Given the description of an element on the screen output the (x, y) to click on. 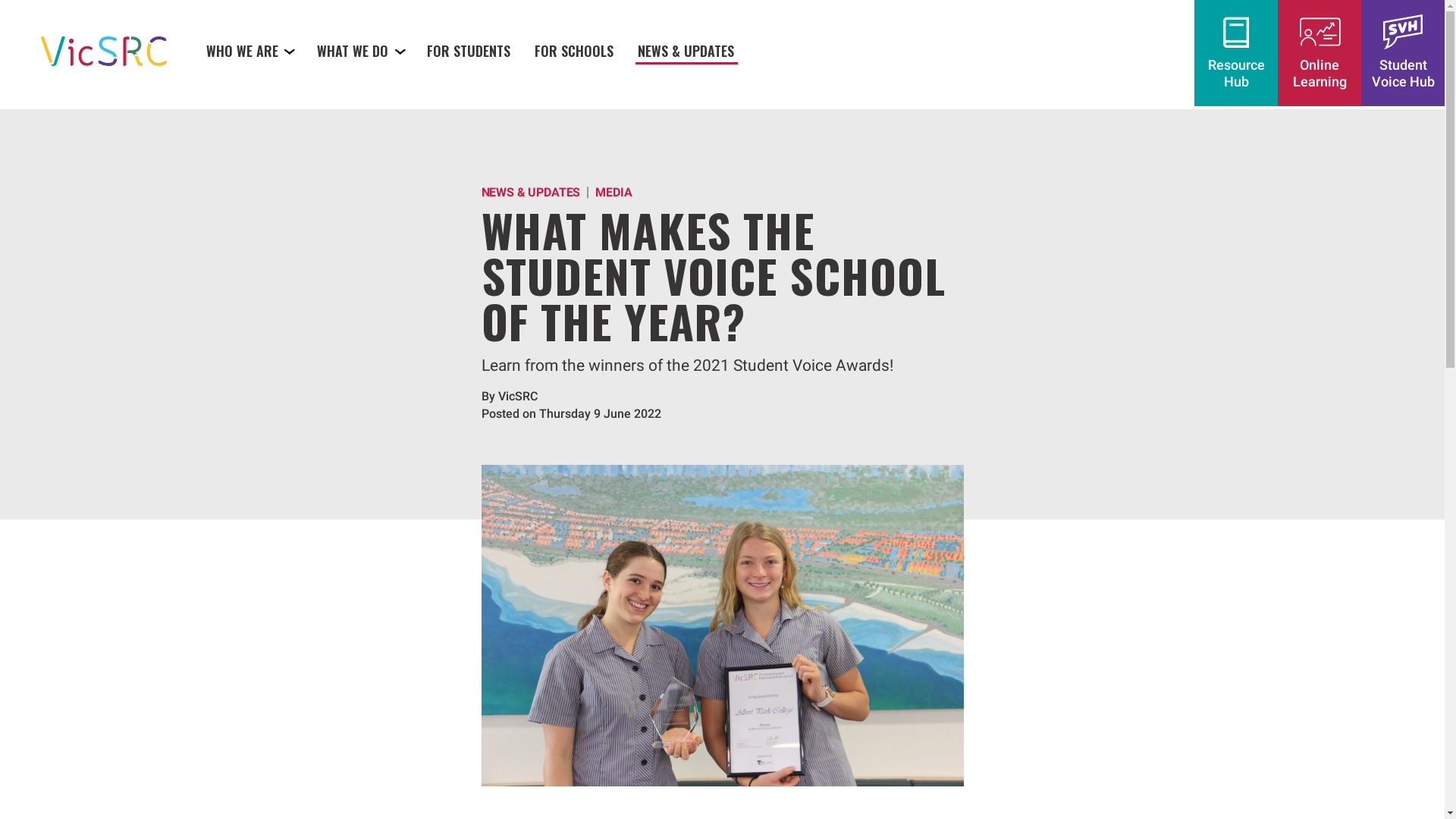
MEDIA Element type: text (613, 192)
FOR SCHOOLS Element type: text (574, 49)
Resource Hub Element type: text (1235, 53)
FOR STUDENTS Element type: text (469, 49)
Student Voice Hub Element type: text (1402, 53)
WHAT WE DO Element type: text (360, 49)
NEWS & UPDATES Element type: text (686, 49)
Online Learning Element type: text (1319, 53)
NEWS & UPDATES Element type: text (530, 192)
WHO WE ARE Element type: text (249, 49)
